Given the description of an element on the screen output the (x, y) to click on. 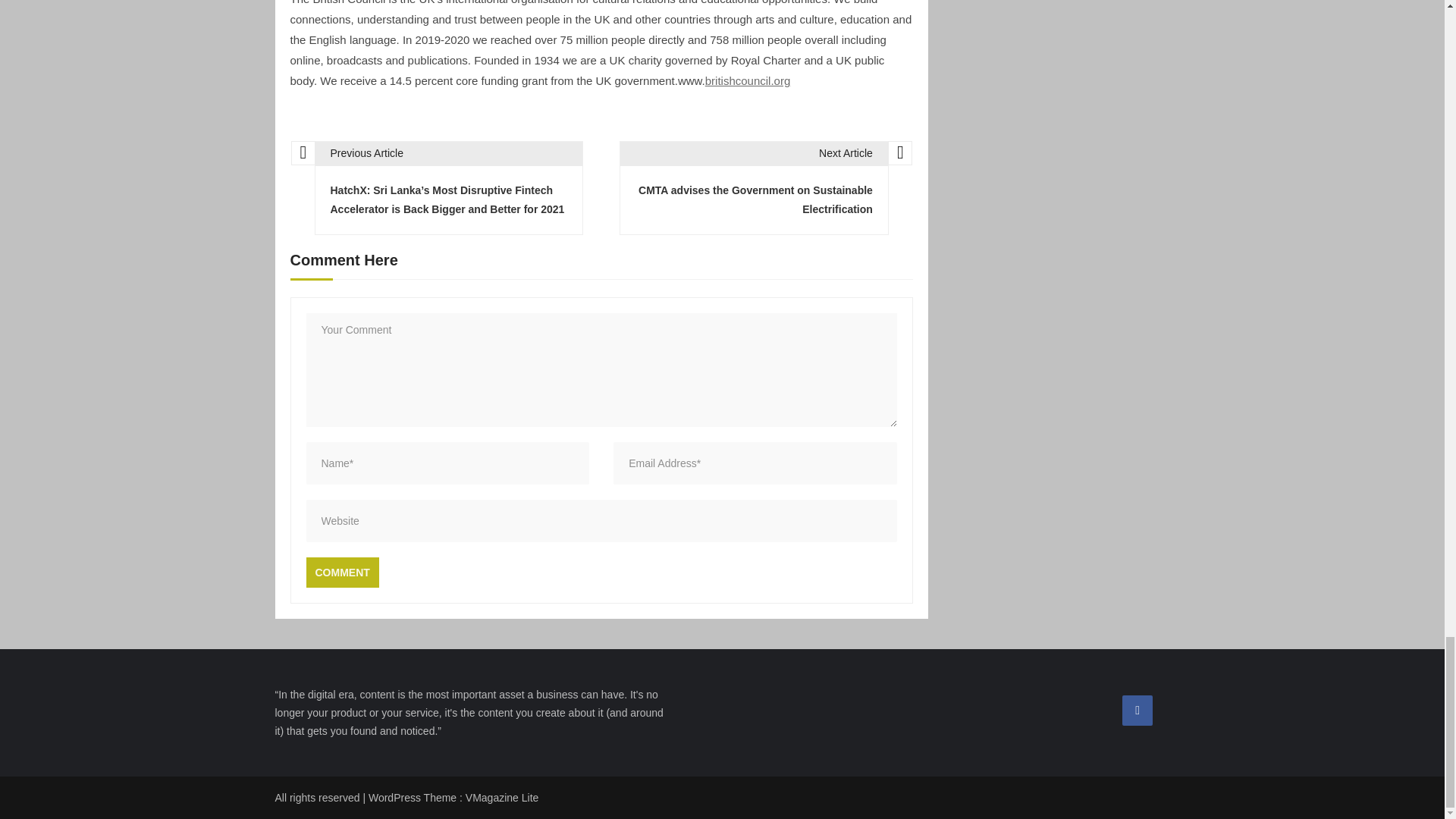
Comment (341, 572)
